Given the description of an element on the screen output the (x, y) to click on. 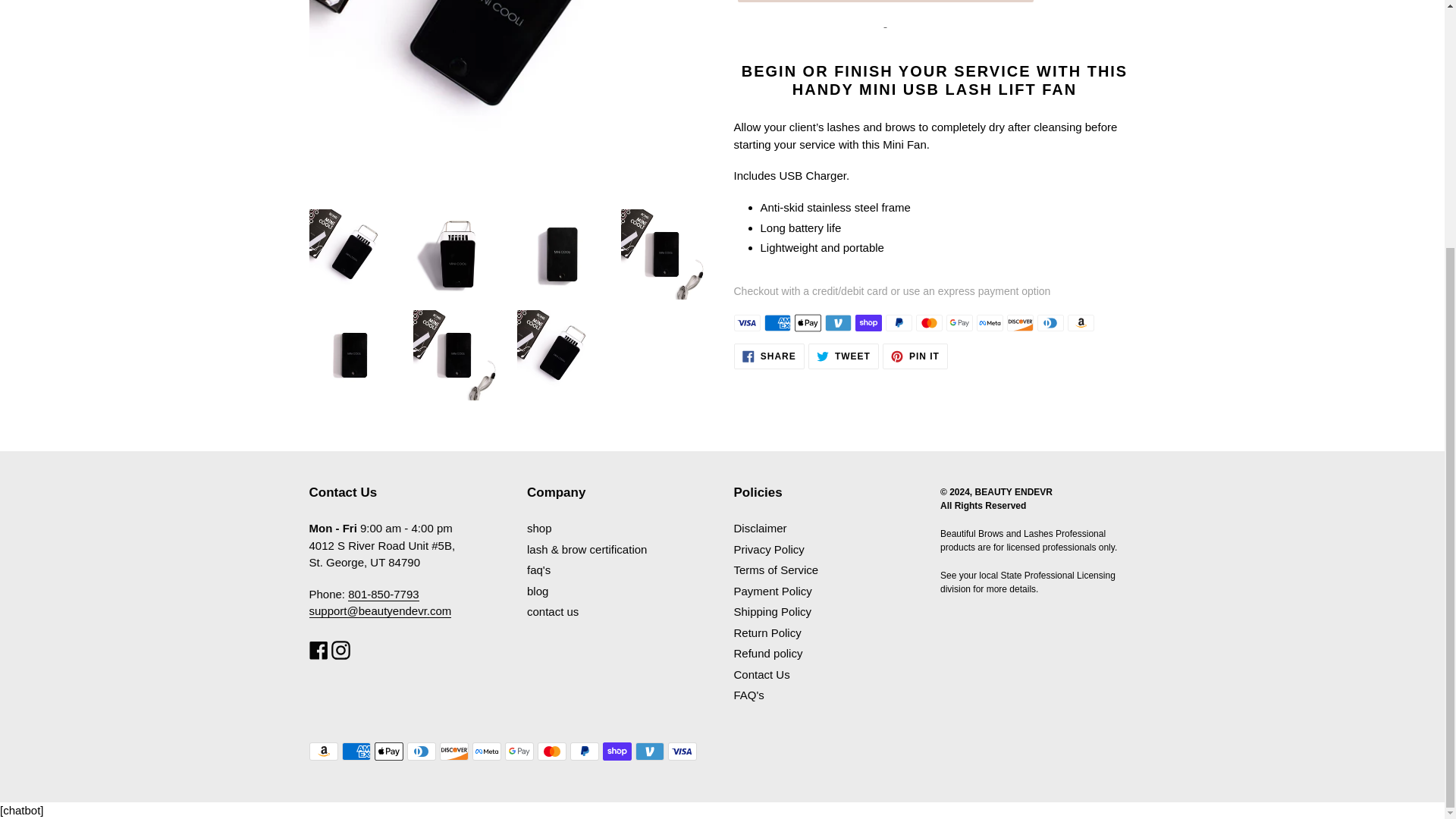
Beauty Endevr on Instagram (340, 650)
tel:801-850-7793 (383, 594)
Beauty Endevr on Facebook (318, 650)
